Given the description of an element on the screen output the (x, y) to click on. 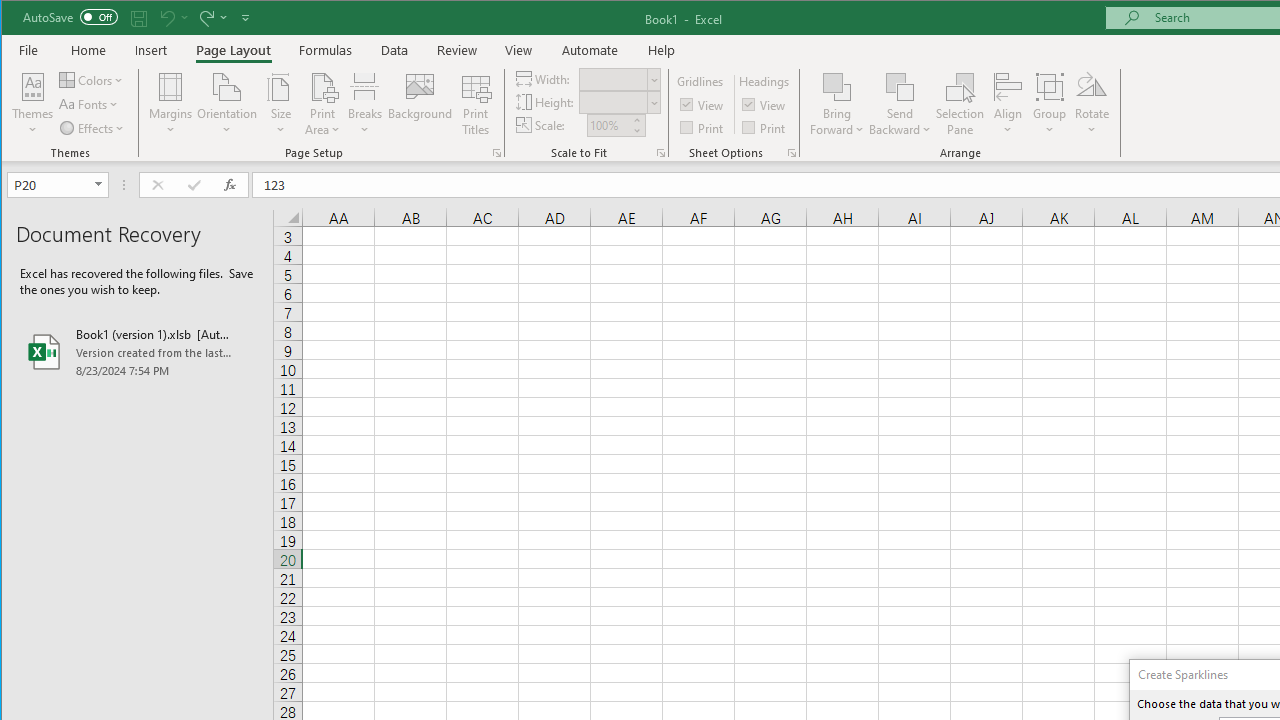
Send Backward (900, 86)
Rotate (1092, 104)
Print Titles (475, 104)
Print (765, 126)
Scale (607, 125)
More (636, 120)
Selection Pane... (960, 104)
Page Setup (660, 152)
